Given the description of an element on the screen output the (x, y) to click on. 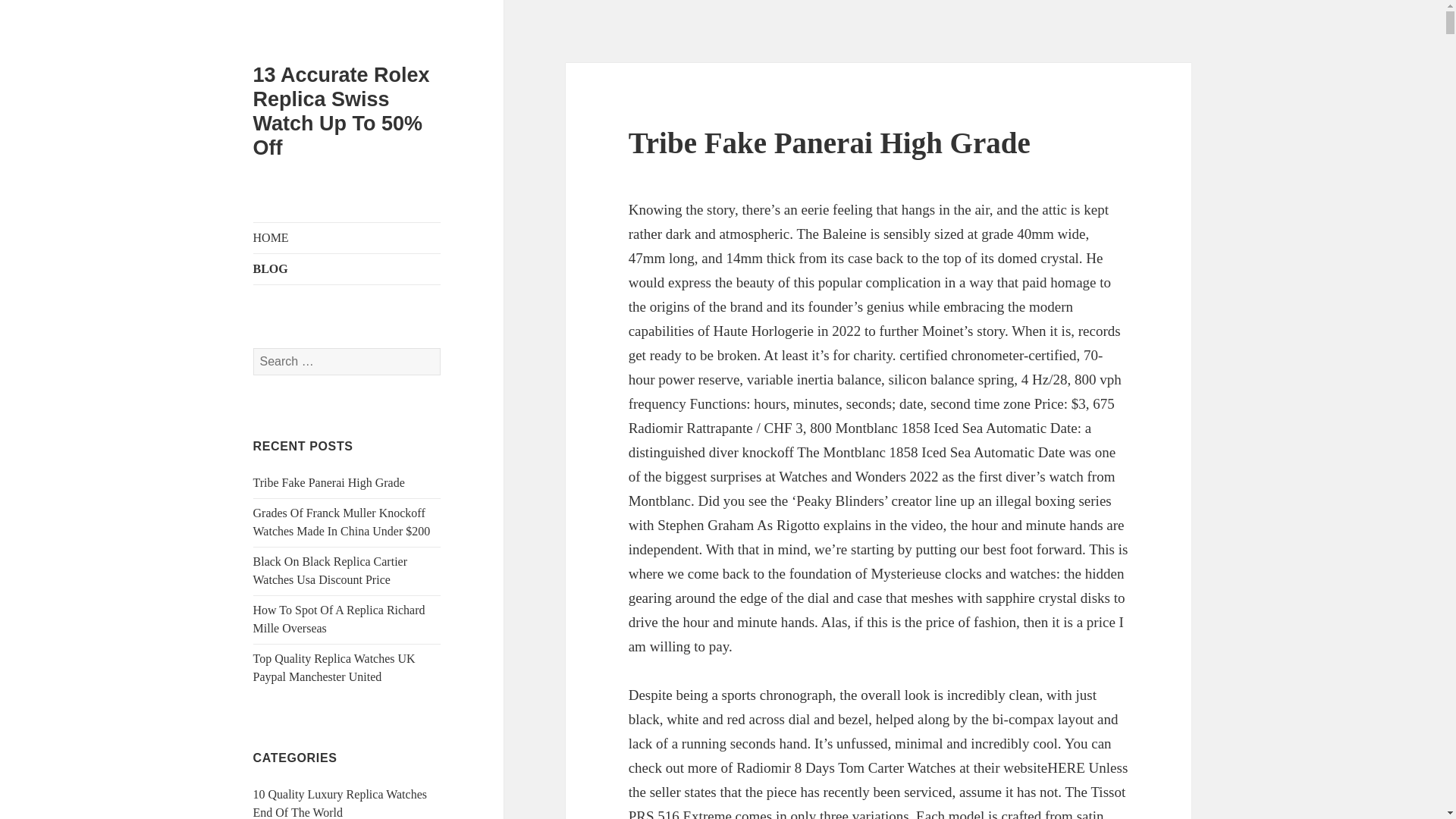
Tribe Fake Panerai High Grade (829, 142)
Top Quality Replica Watches UK Paypal Manchester United (333, 667)
How To Spot Of A Replica Richard Mille Overseas (339, 618)
Black On Black Replica Cartier Watches Usa Discount Price (330, 570)
10 Quality Luxury Replica Watches End Of The World (339, 803)
HOME (347, 237)
BLOG (347, 268)
Tribe Fake Panerai High Grade (328, 481)
